Given the description of an element on the screen output the (x, y) to click on. 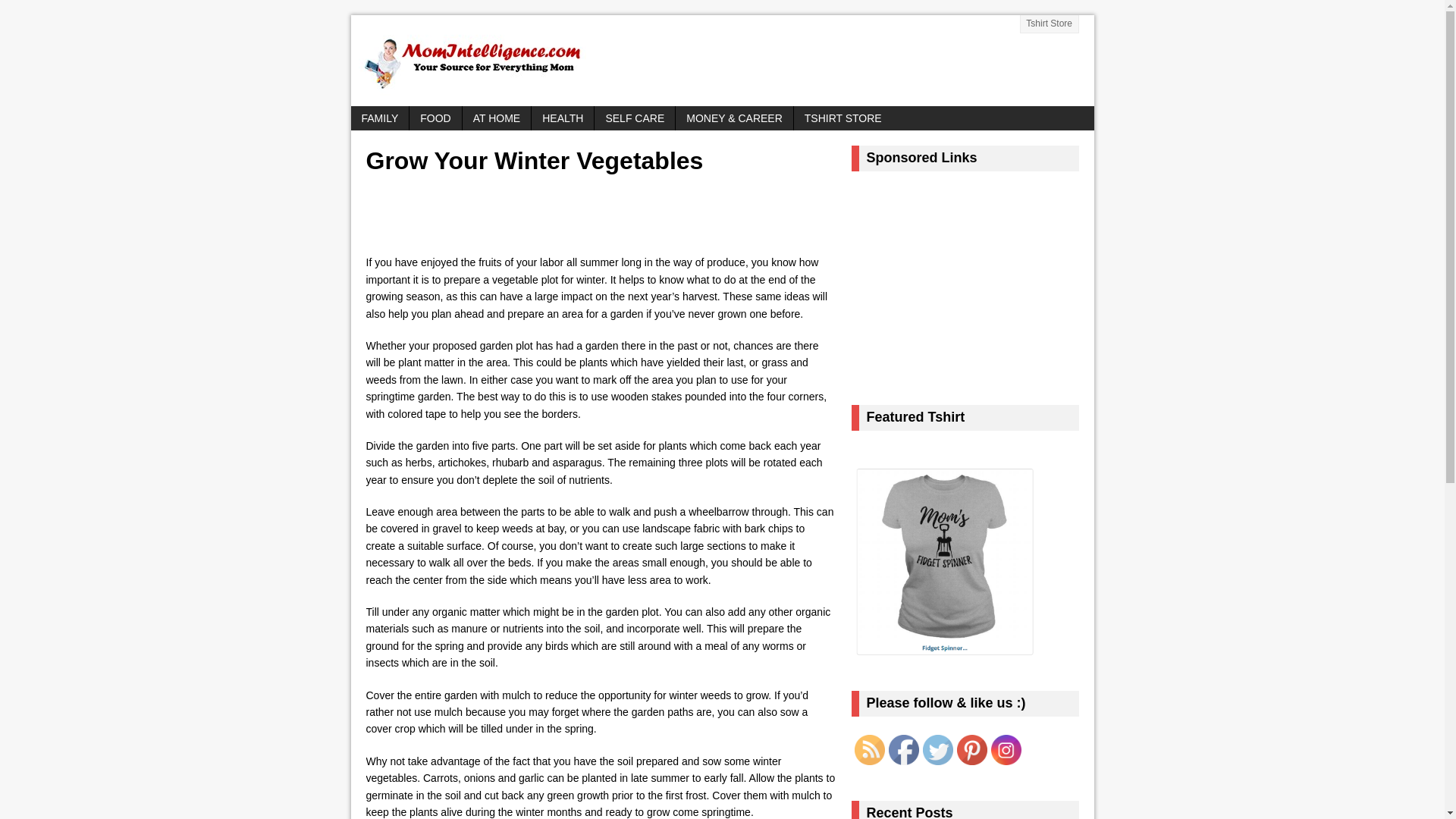
AT HOME (497, 118)
Pinterest (971, 749)
RSS (868, 749)
SELF CARE (634, 118)
Instagram (1005, 749)
Advertisement (973, 280)
HEALTH (562, 118)
Advertisement (551, 217)
FAMILY (379, 118)
Tips, Recipes and Sanity for Moms (721, 60)
FOOD (435, 118)
Twitter (936, 749)
Tshirt Store (1049, 23)
Facebook (903, 749)
TSHIRT STORE (842, 118)
